Given the description of an element on the screen output the (x, y) to click on. 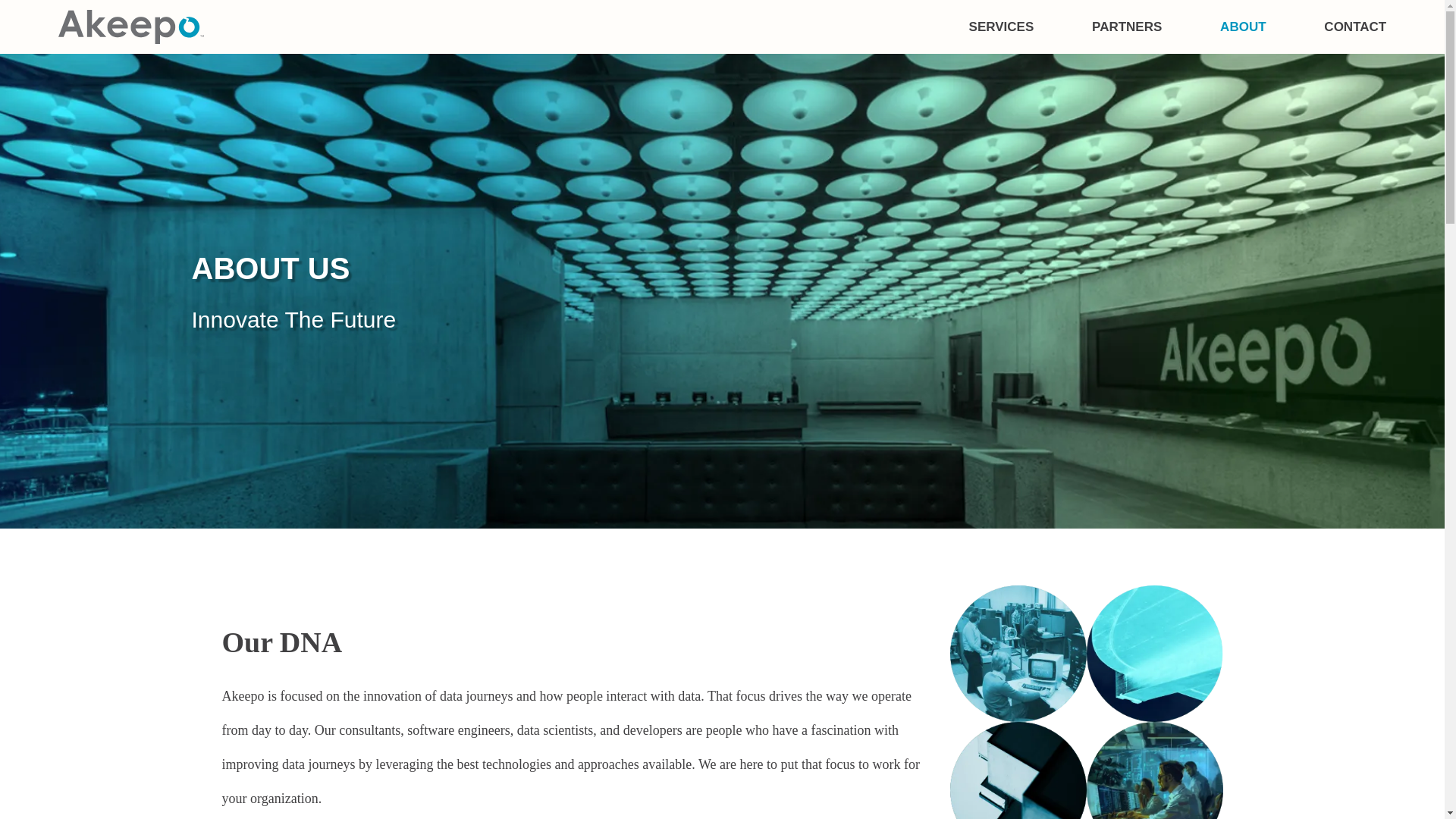
SERVICES (1001, 27)
CONTACT (1354, 27)
PARTNERS (1126, 27)
